Given the description of an element on the screen output the (x, y) to click on. 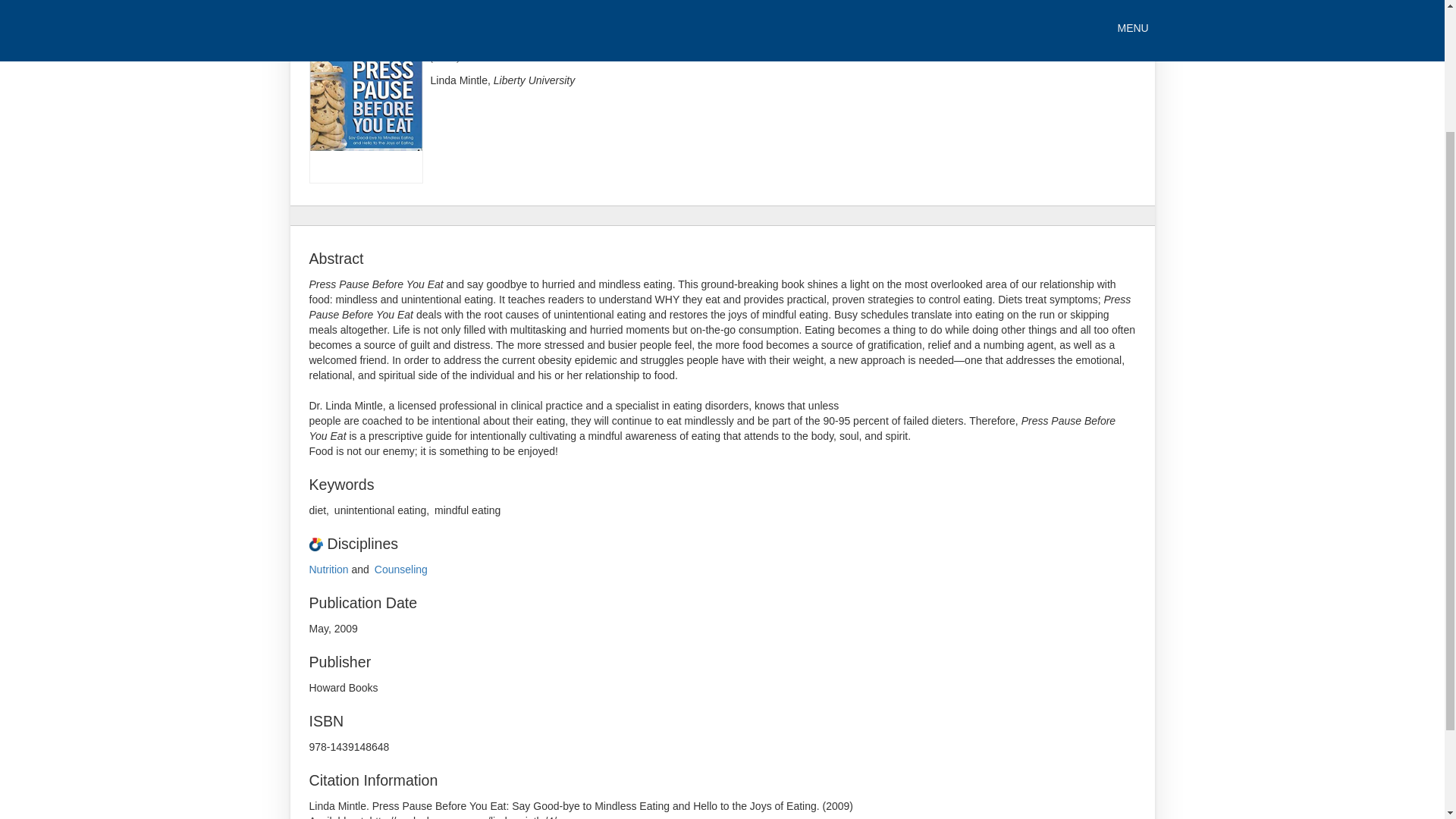
Nutrition (328, 569)
Digital Commons Network: Nutrition (328, 569)
Digital Commons Network: Counseling (401, 569)
Counseling (401, 569)
